Given the description of an element on the screen output the (x, y) to click on. 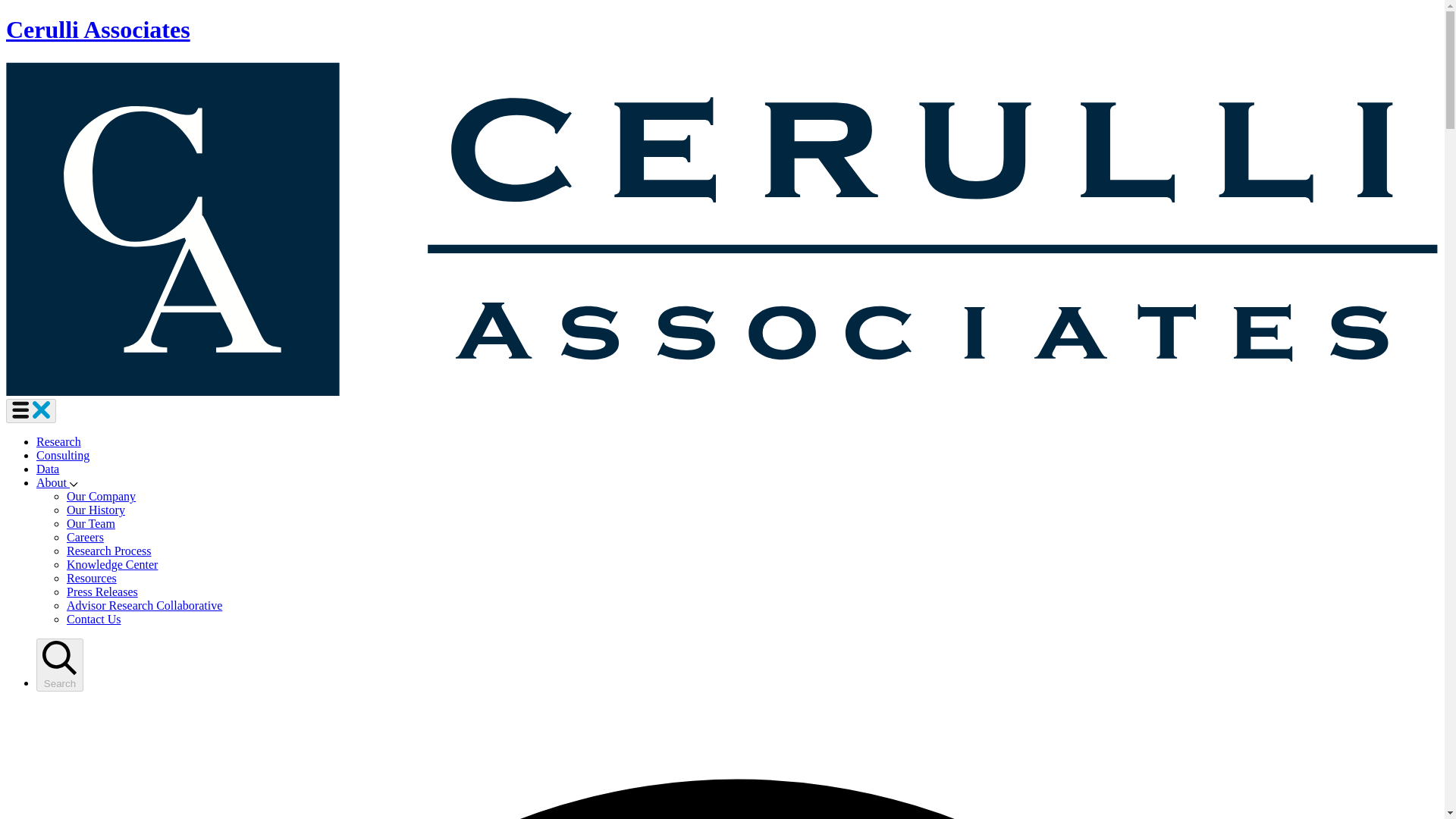
Research Process (108, 550)
Our History (95, 509)
Advisor Research Collaborative (144, 604)
Consulting (62, 454)
Research (58, 440)
About (57, 481)
Resources (91, 577)
Careers (84, 536)
Contact Us (93, 618)
Data (47, 468)
Press Releases (102, 591)
Our Company (100, 495)
Our Team (90, 522)
Knowledge Center (111, 563)
